Given the description of an element on the screen output the (x, y) to click on. 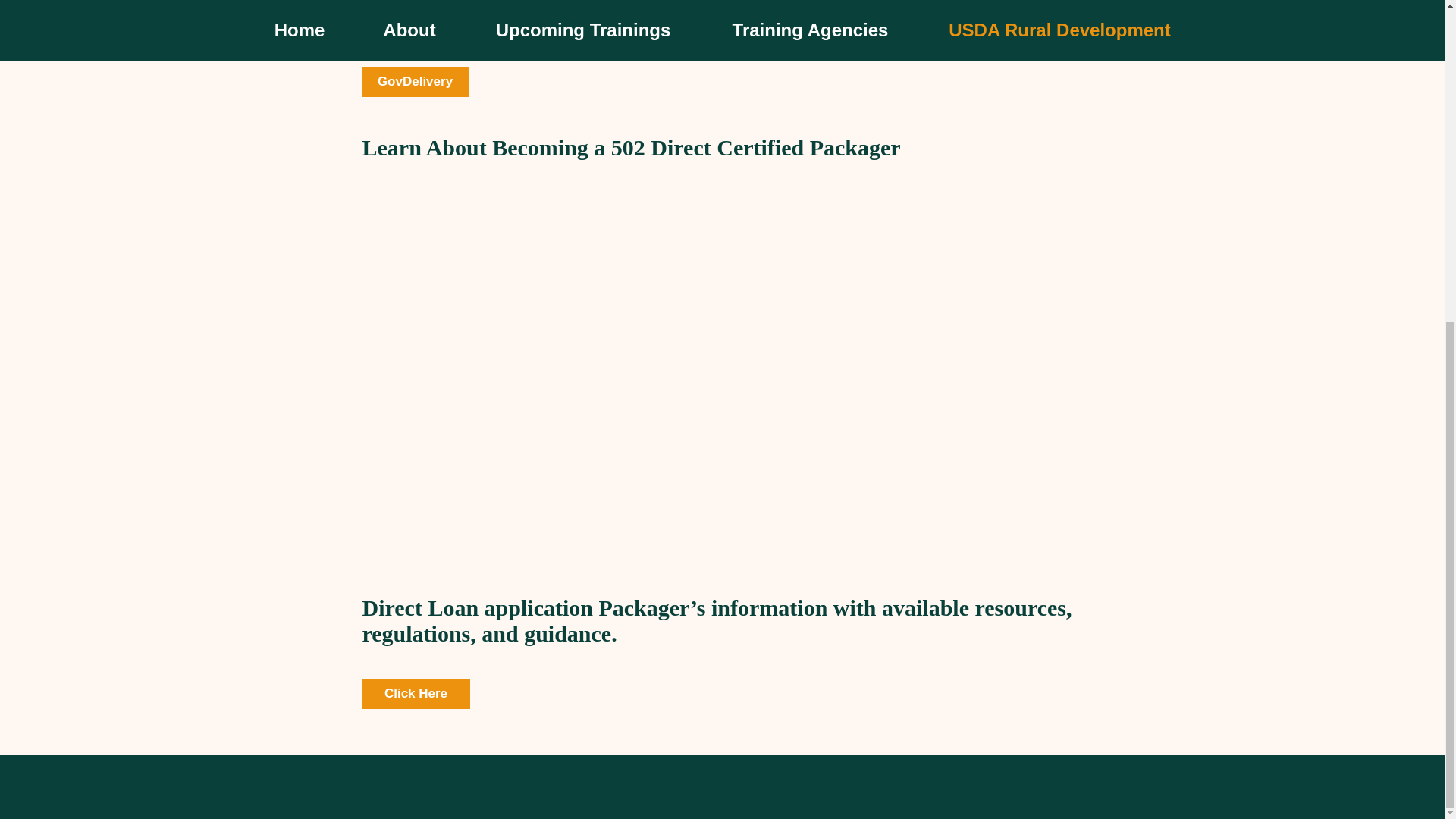
GovDelivery (414, 81)
Click Here (416, 693)
